Given the description of an element on the screen output the (x, y) to click on. 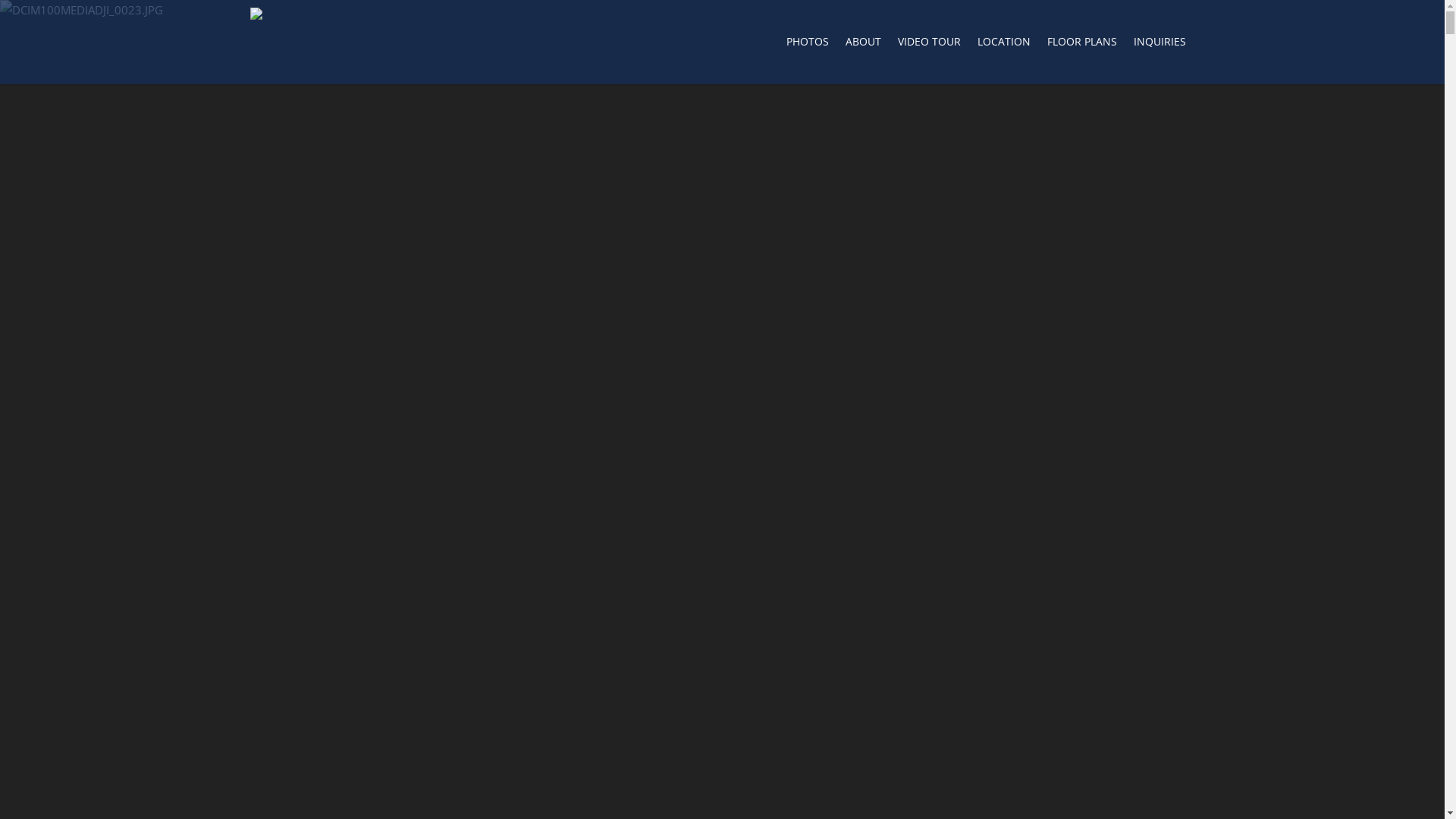
LOCATION Element type: text (1003, 45)
VIDEO TOUR Element type: text (929, 45)
FLOOR PLANS Element type: text (1081, 45)
ABOUT Element type: text (862, 45)
INQUIRIES Element type: text (1159, 45)
PHOTOS Element type: text (807, 45)
